Given the description of an element on the screen output the (x, y) to click on. 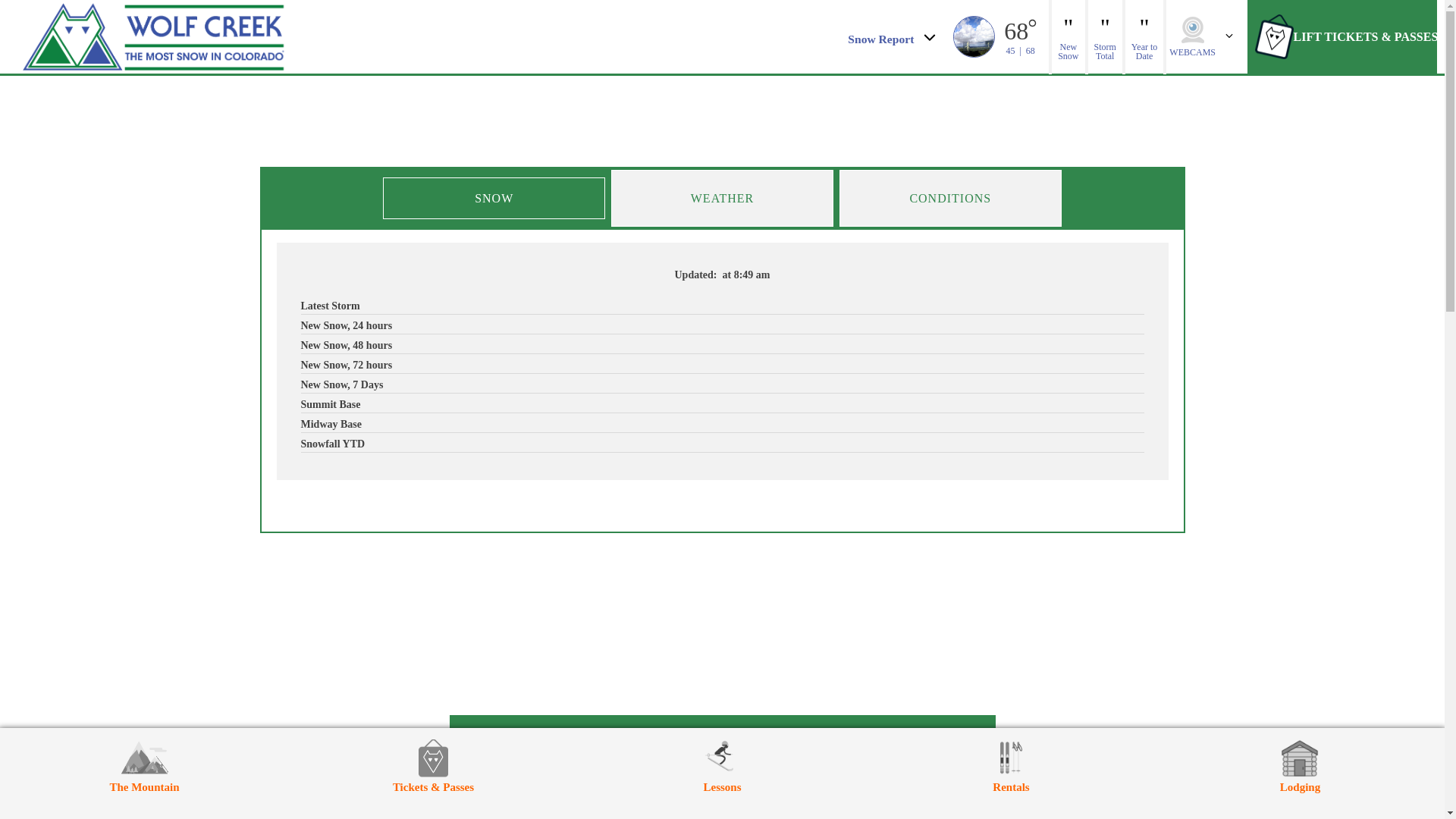
The Mountain (144, 765)
Lessons (722, 765)
Snow Report (890, 35)
Rentals (1011, 765)
